Given the description of an element on the screen output the (x, y) to click on. 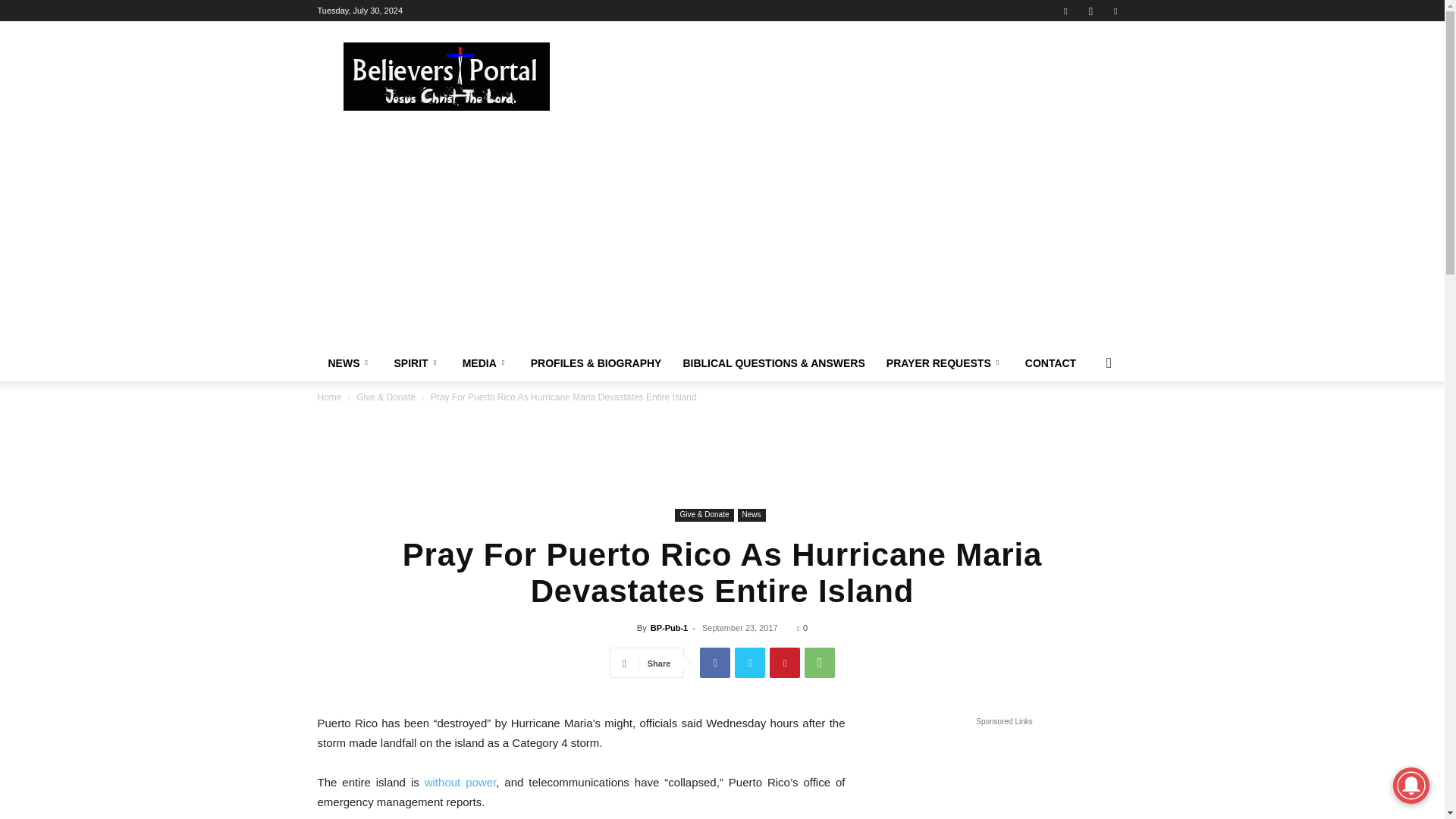
Advertisement (721, 455)
PRAYER REQUESTS (945, 362)
WhatsApp (819, 662)
Twitter (1114, 10)
MEDIA (485, 362)
Facebook (715, 662)
Twitter (750, 662)
Pinterest (784, 662)
Facebook (1065, 10)
Instagram (1090, 10)
Advertisement (850, 76)
SPIRIT (417, 362)
NEWS (349, 362)
